Given the description of an element on the screen output the (x, y) to click on. 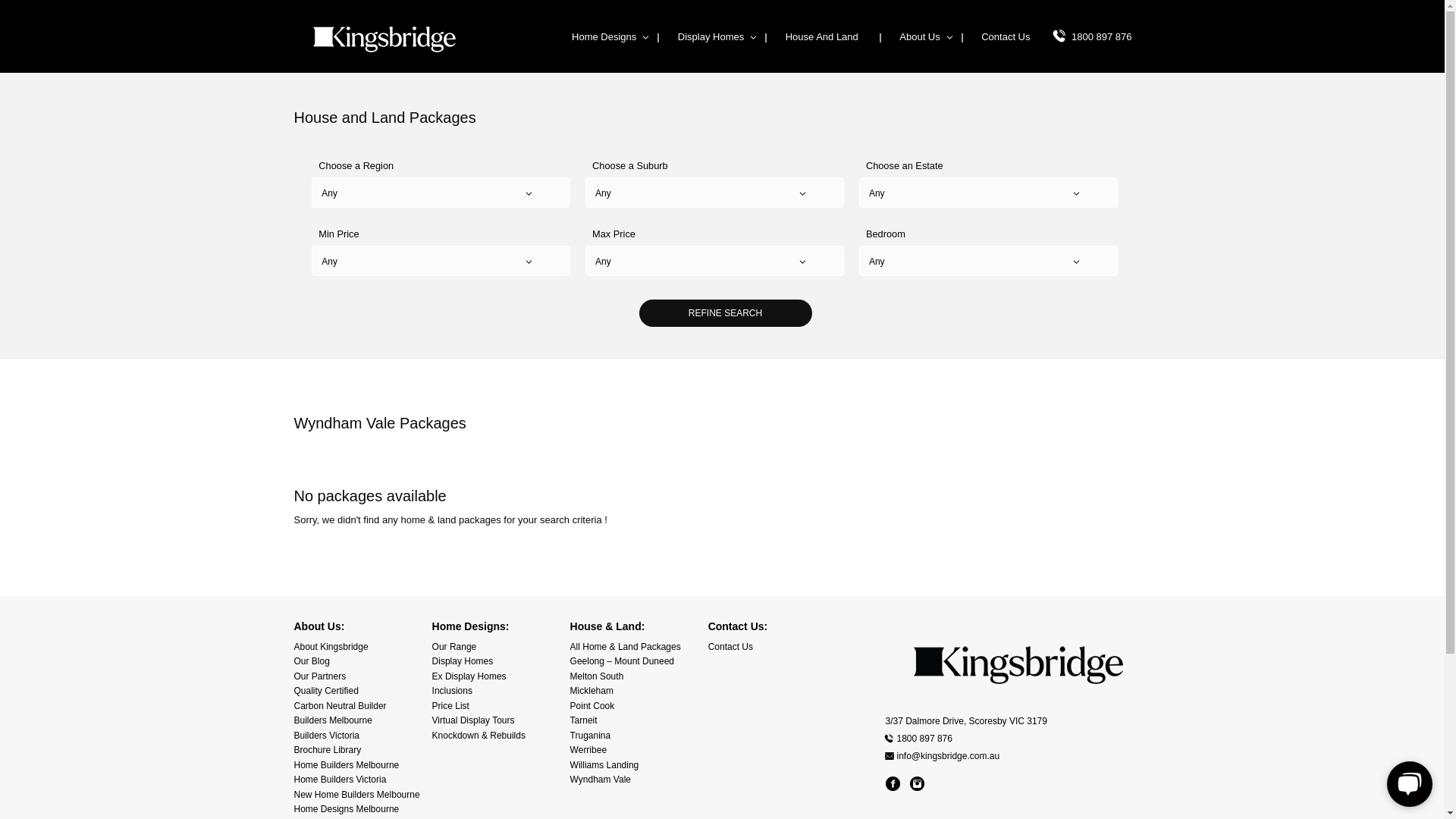
Our Blog Element type: text (311, 660)
Any Element type: text (714, 261)
About Us Element type: text (919, 36)
Truganina Element type: text (590, 735)
About Us: Element type: text (319, 626)
Home Builders Melbourne Element type: text (346, 764)
Display Homes Element type: text (462, 660)
Quality Certified Element type: text (326, 690)
Wyndham Vale Element type: text (600, 779)
Our Range Element type: text (454, 646)
Williams Landing Element type: text (604, 764)
Home Designs Melbourne Element type: text (346, 808)
Knockdown & Rebuilds Element type: text (478, 735)
Display Homes Element type: text (710, 36)
Any Element type: text (714, 193)
Builders Melbourne Element type: text (333, 720)
Mickleham Element type: text (591, 690)
Facebook Element type: text (892, 783)
Builders Victoria Element type: text (326, 735)
1800 897 876 Element type: text (1018, 738)
New Home Builders Melbourne Element type: text (357, 794)
Home Builders Victoria Element type: text (340, 779)
Contact Us: Element type: text (738, 626)
REFINE SEARCH Element type: text (724, 312)
Price List Element type: text (450, 705)
Melton South Element type: text (597, 676)
Contact Us Element type: text (730, 646)
About Kingsbridge Element type: text (331, 646)
Instagram Element type: text (917, 783)
Our Partners Element type: text (320, 676)
Any Element type: text (440, 193)
House & Land: Element type: text (607, 626)
Virtual Display Tours Element type: text (473, 720)
Carbon Neutral Builder Element type: text (340, 705)
Any Element type: text (988, 193)
1800 897 876 Element type: text (1101, 36)
Contact Us Element type: text (1005, 36)
Brochure Library Element type: text (327, 749)
House And Land Element type: text (821, 36)
info@kingsbridge.com.au Element type: text (1018, 755)
Point Cook Element type: text (592, 705)
All Home & Land Packages Element type: text (625, 646)
Home Designs Element type: text (603, 36)
Tarneit Element type: text (583, 720)
Inclusions Element type: text (452, 690)
Any Element type: text (440, 261)
Werribee Element type: text (588, 749)
Ex Display Homes Element type: text (469, 676)
Home Designs: Element type: text (470, 626)
Any Element type: text (988, 261)
